Given the description of an element on the screen output the (x, y) to click on. 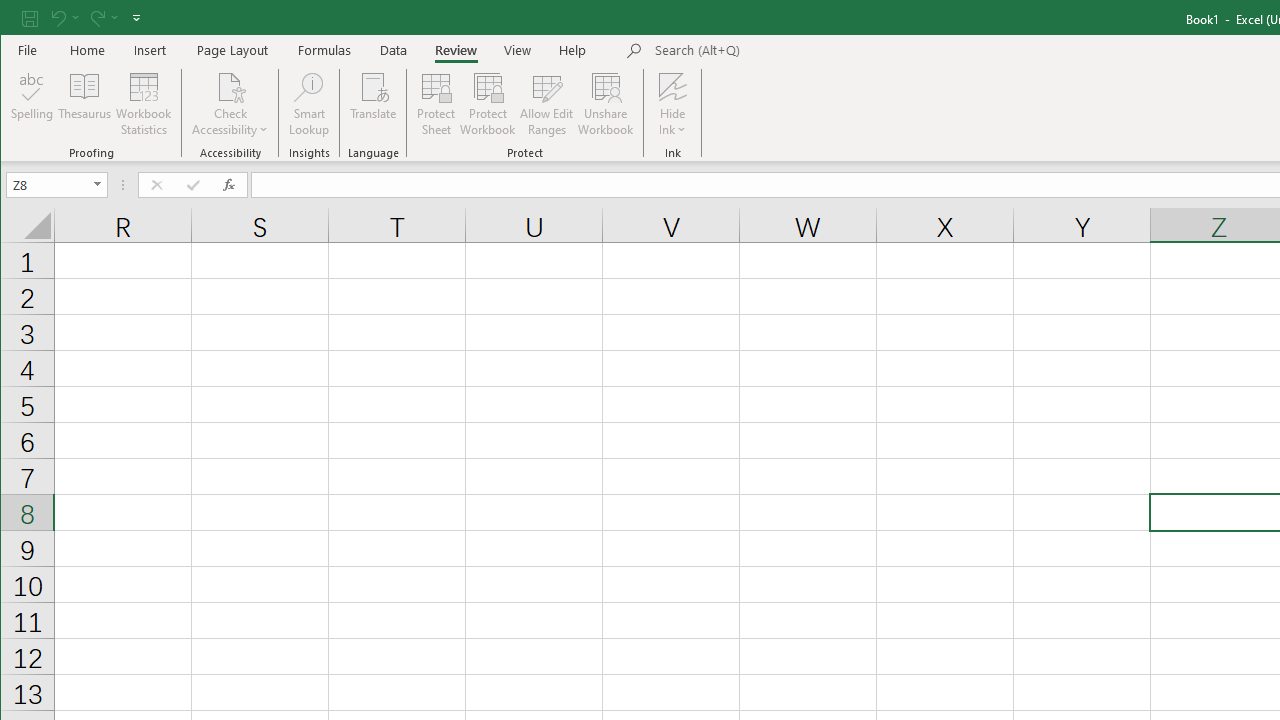
Spelling... (32, 104)
Thesaurus... (84, 104)
